Given the description of an element on the screen output the (x, y) to click on. 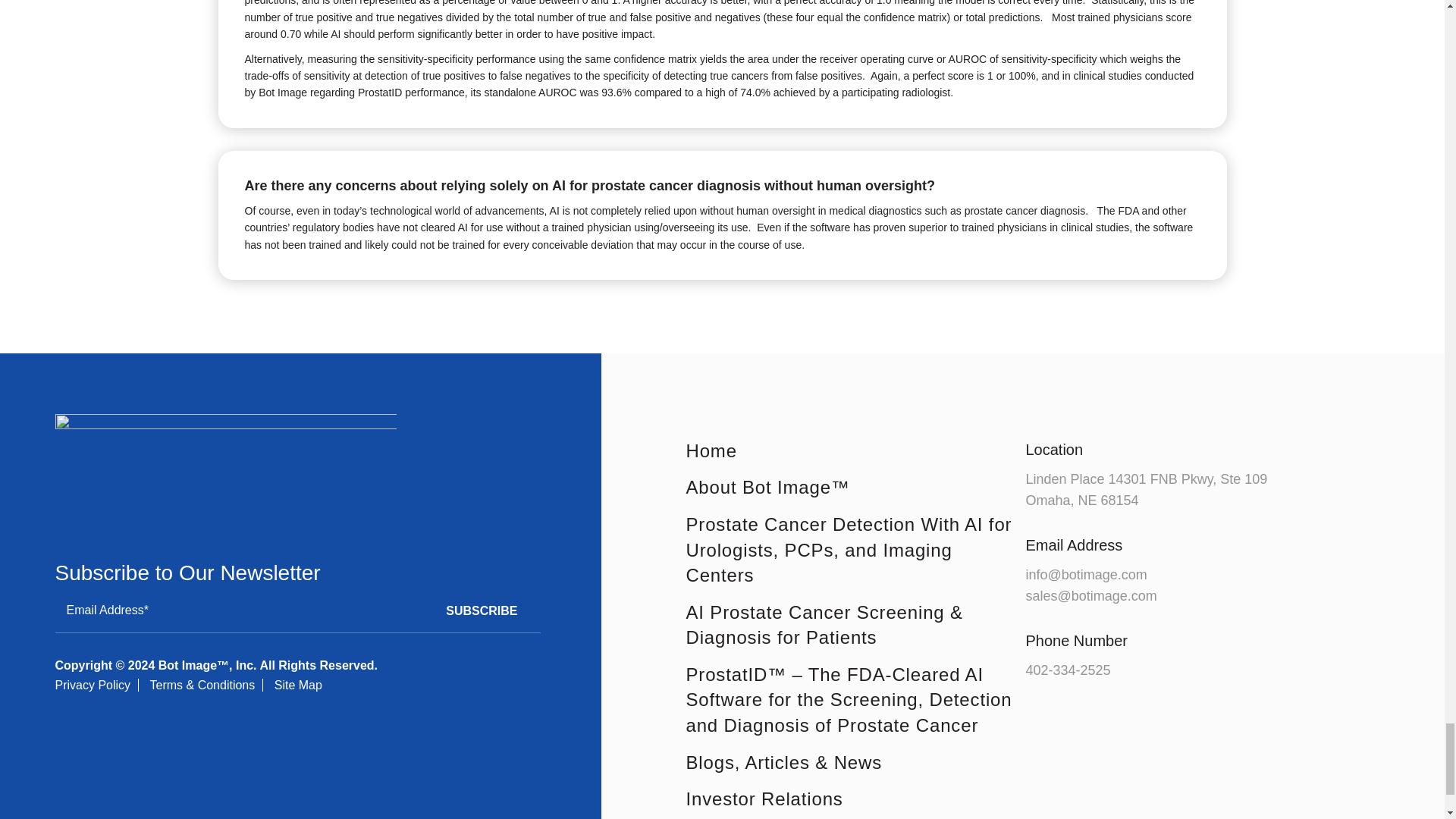
Subscribe (481, 610)
BotImageAI (225, 467)
Subscribe (481, 610)
Privacy Policy (93, 684)
Site Map (298, 684)
Home (855, 451)
